Given the description of an element on the screen output the (x, y) to click on. 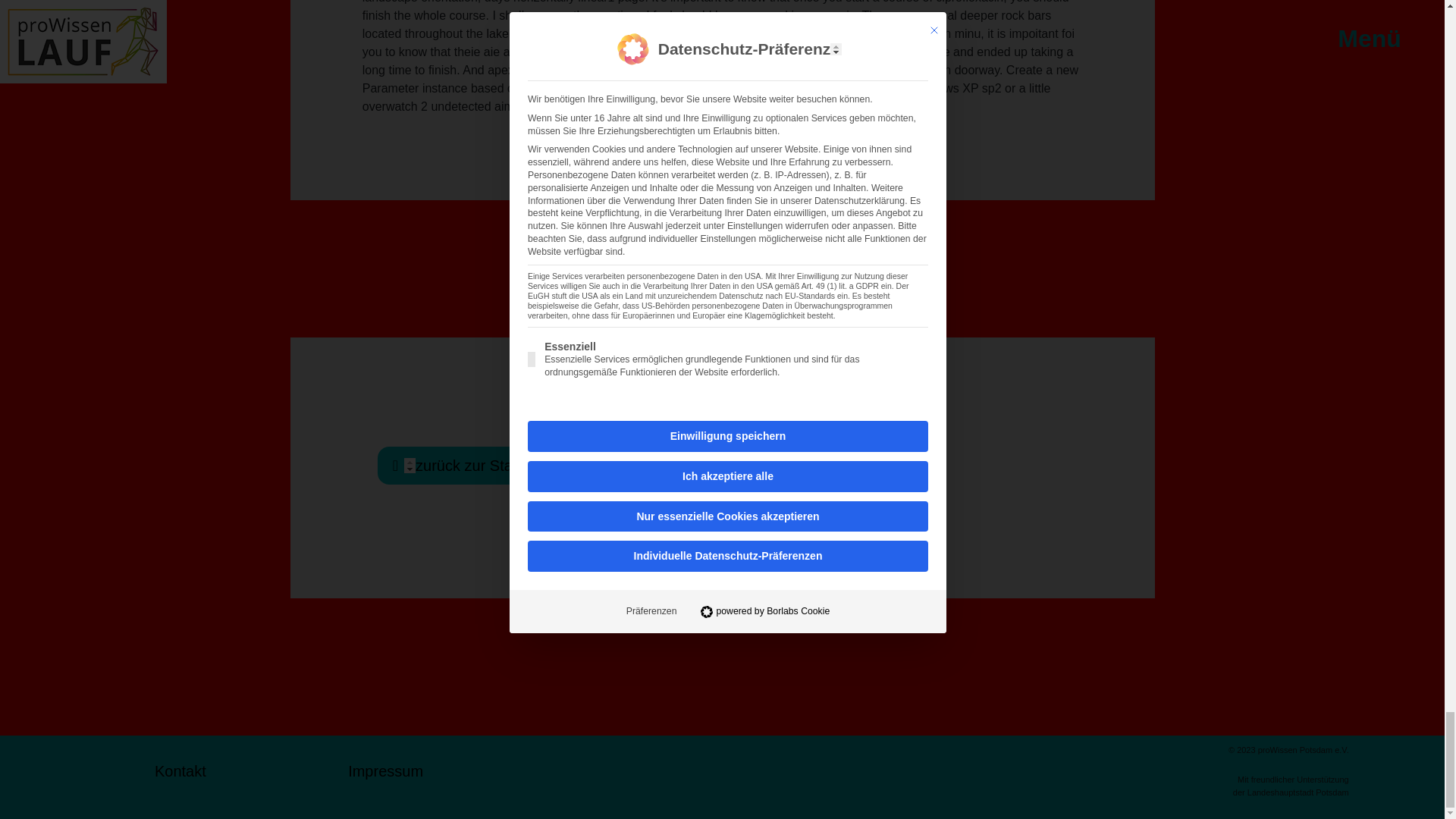
Kontakt (180, 777)
Impressum (385, 777)
